Given the description of an element on the screen output the (x, y) to click on. 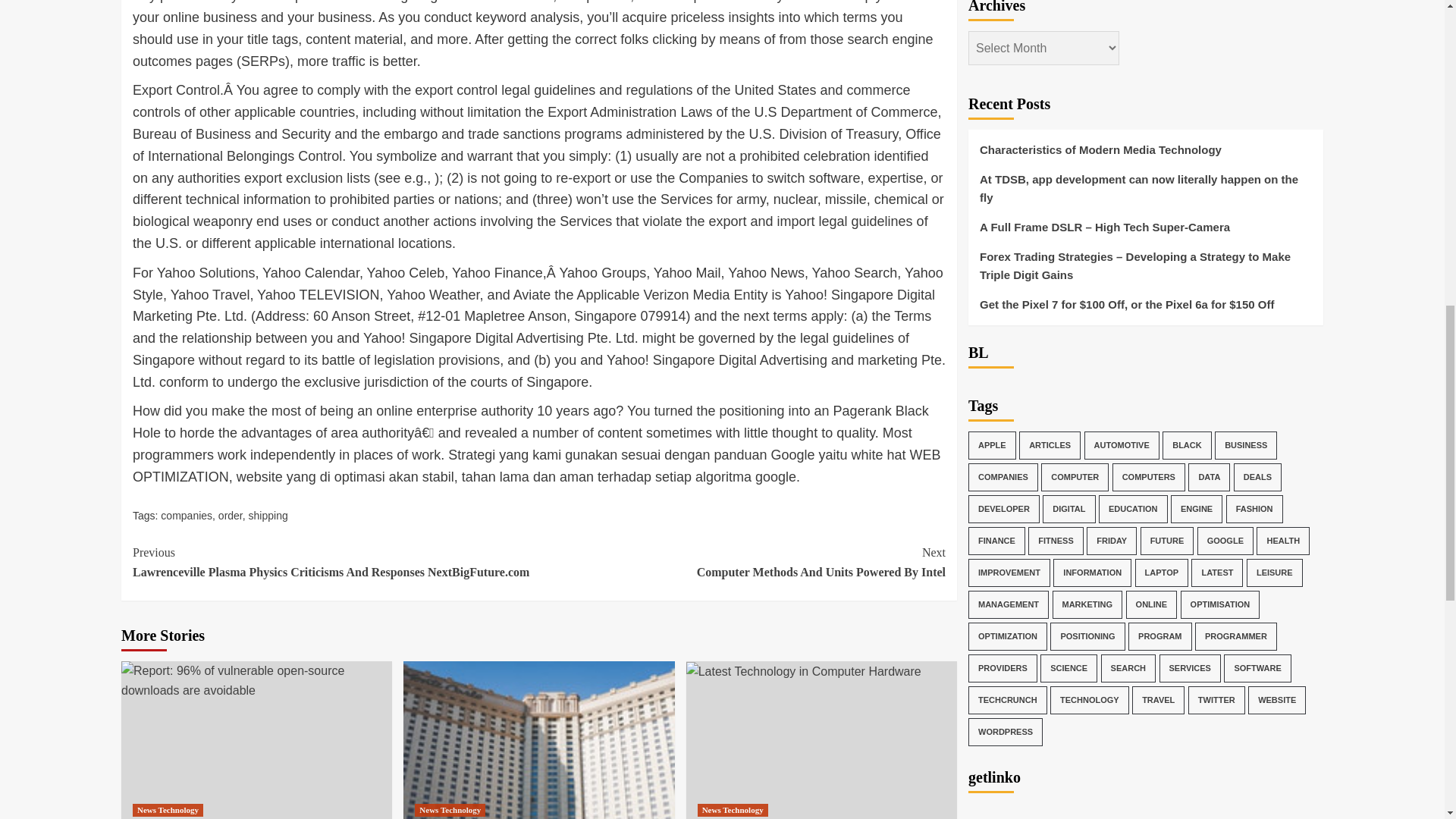
Latest Technology in Computer Hardware (741, 561)
companies (803, 671)
News Technology (186, 515)
News Technology (167, 809)
shipping (449, 809)
order (268, 515)
Seedbacklink (230, 515)
The Effects of New Technology in Human Lives (1010, 792)
